Given the description of an element on the screen output the (x, y) to click on. 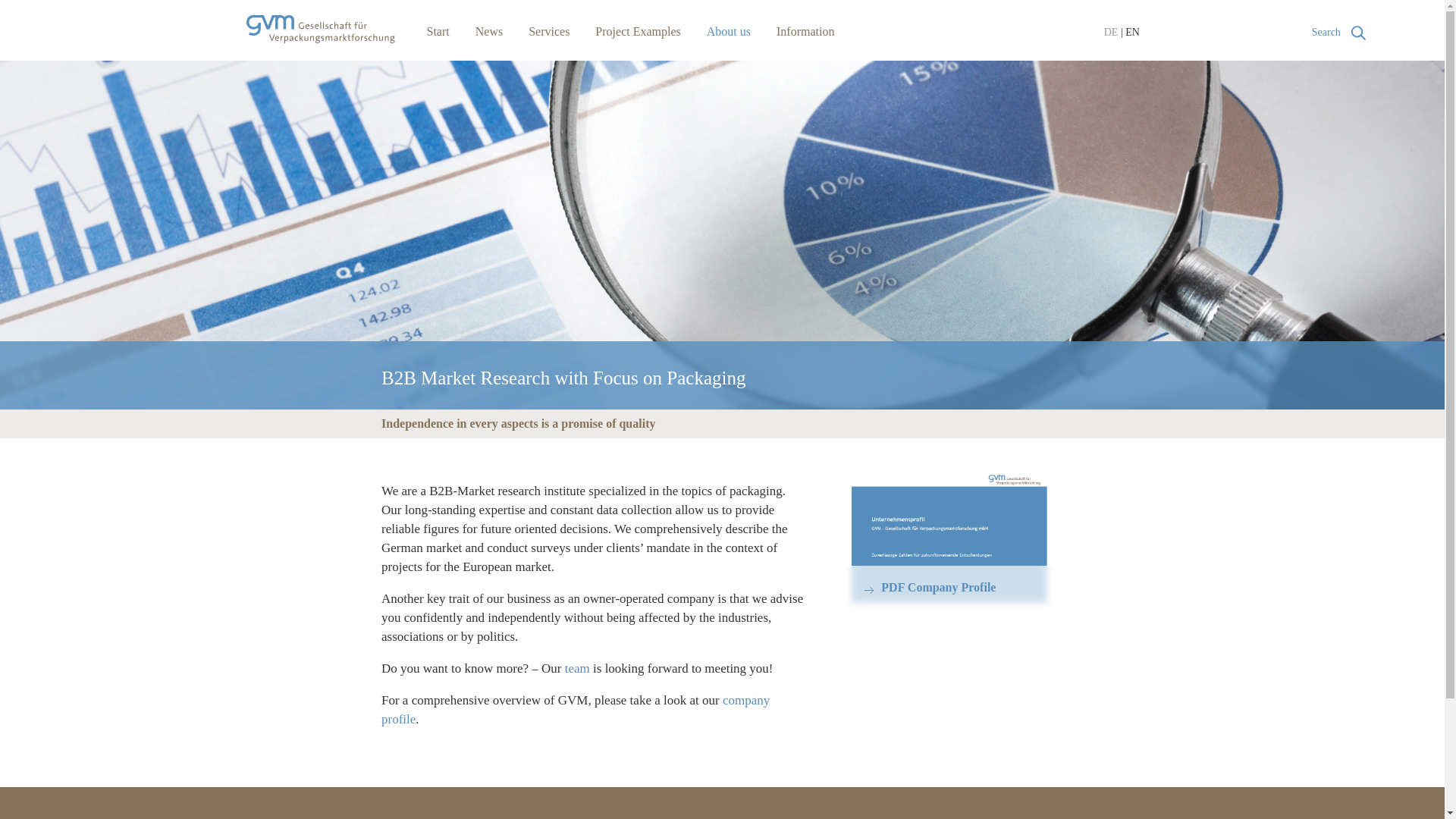
Start (437, 31)
DE (1110, 31)
News (489, 31)
Information (805, 31)
About us (728, 31)
EN (1132, 31)
Services (548, 31)
Project Examples (637, 31)
